Given the description of an element on the screen output the (x, y) to click on. 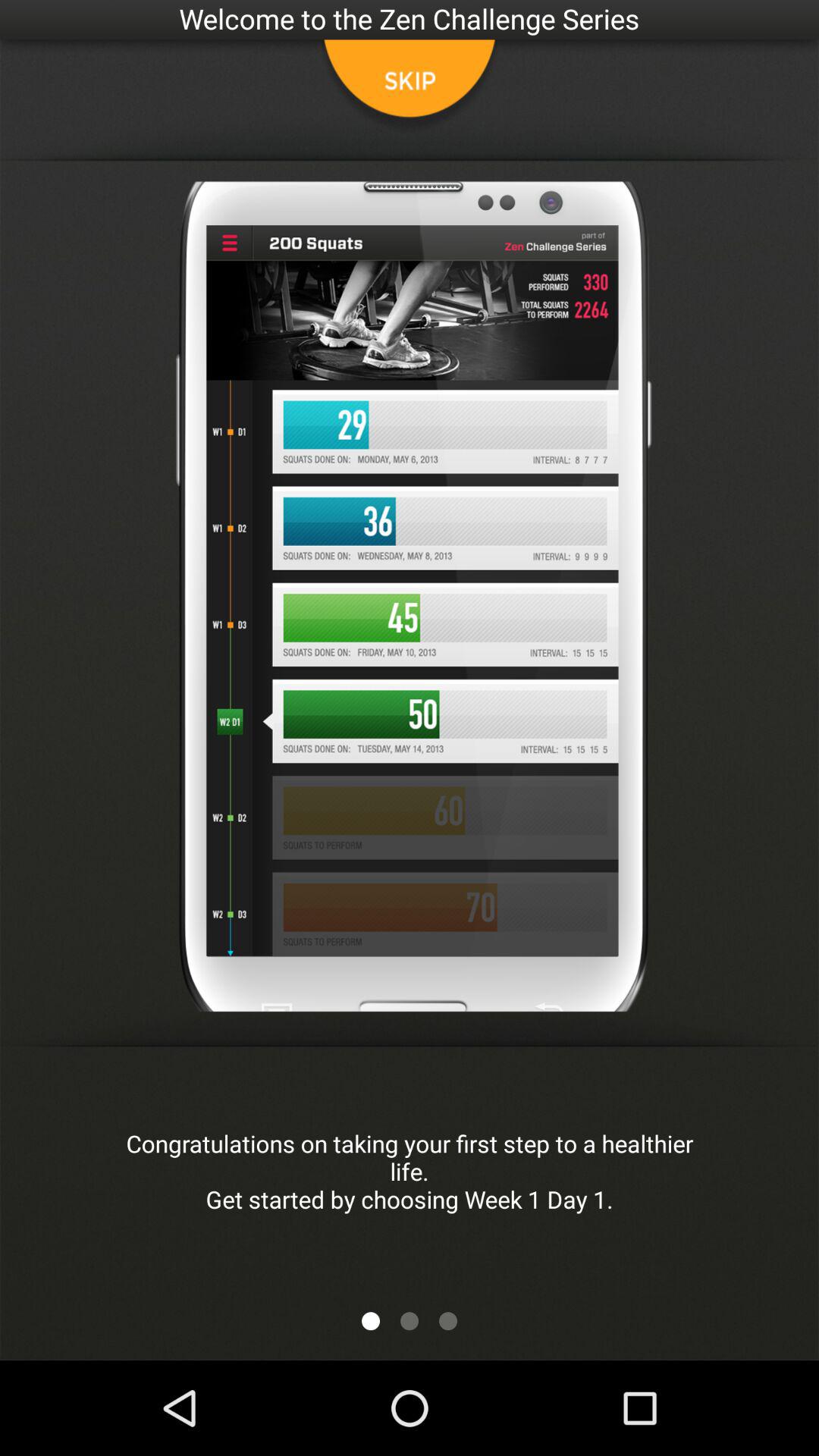
skip button (409, 87)
